Given the description of an element on the screen output the (x, y) to click on. 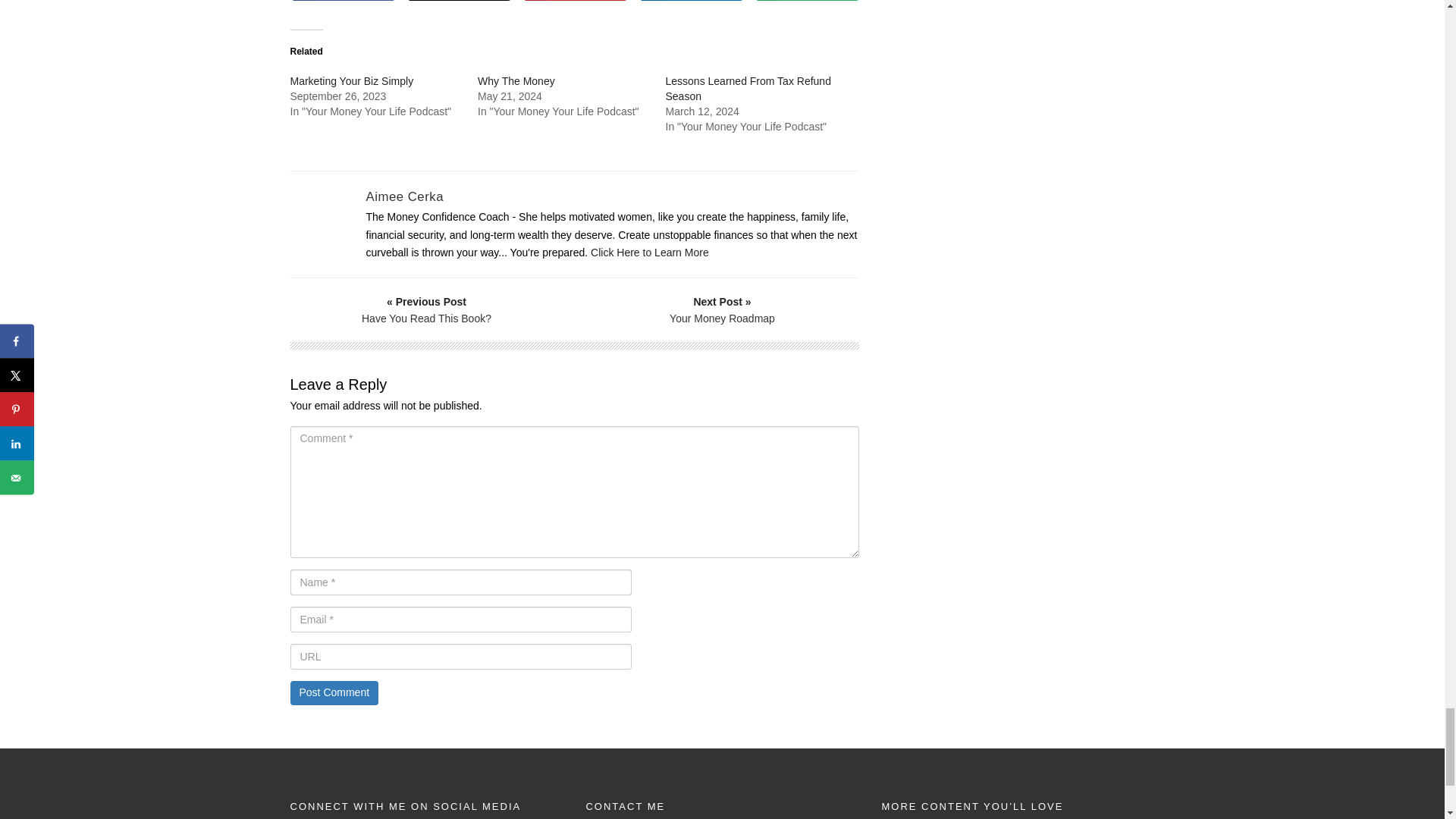
Post Comment (333, 692)
Marketing Your Biz Simply (351, 80)
